Given the description of an element on the screen output the (x, y) to click on. 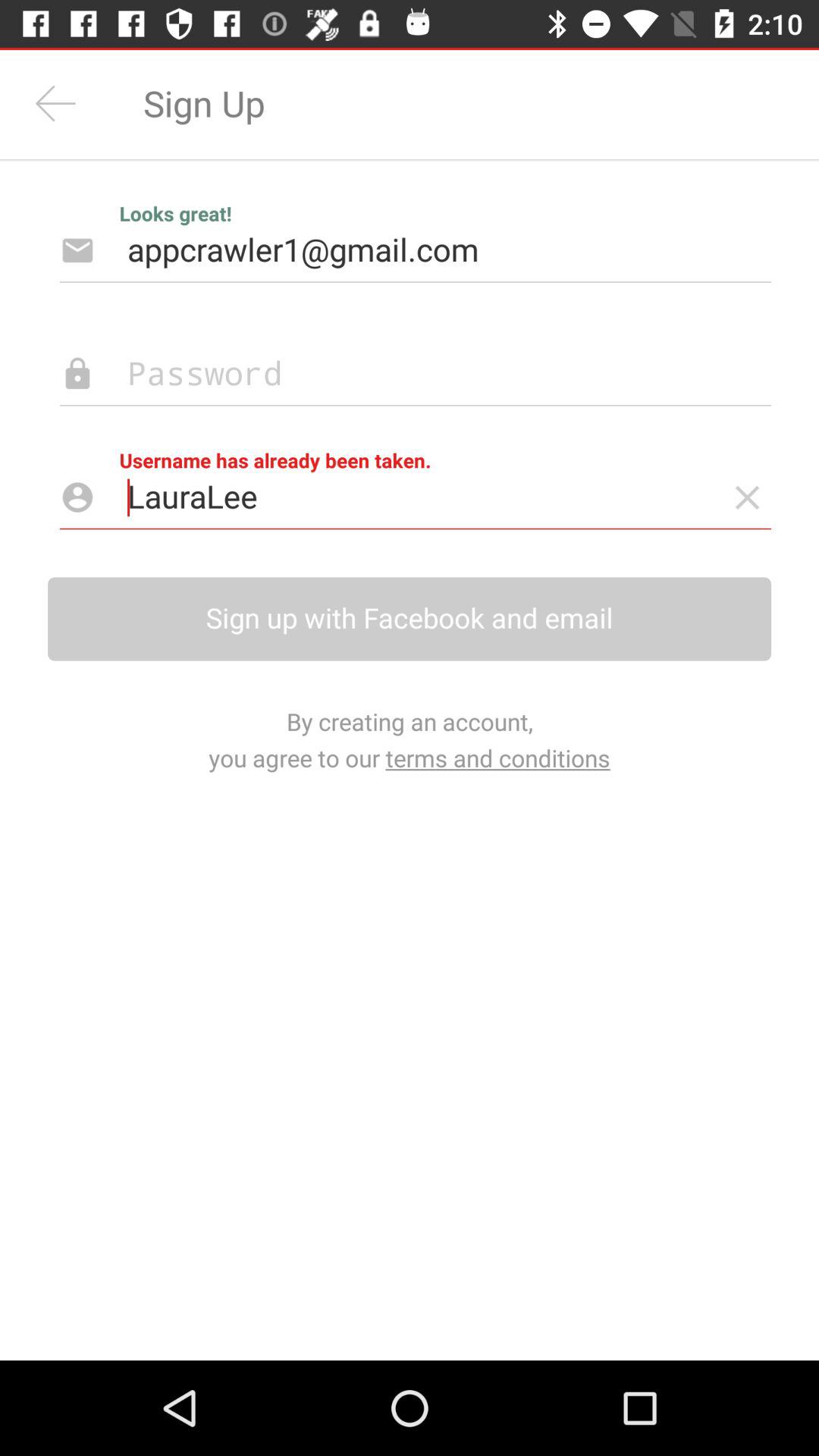
close button (747, 497)
